Given the description of an element on the screen output the (x, y) to click on. 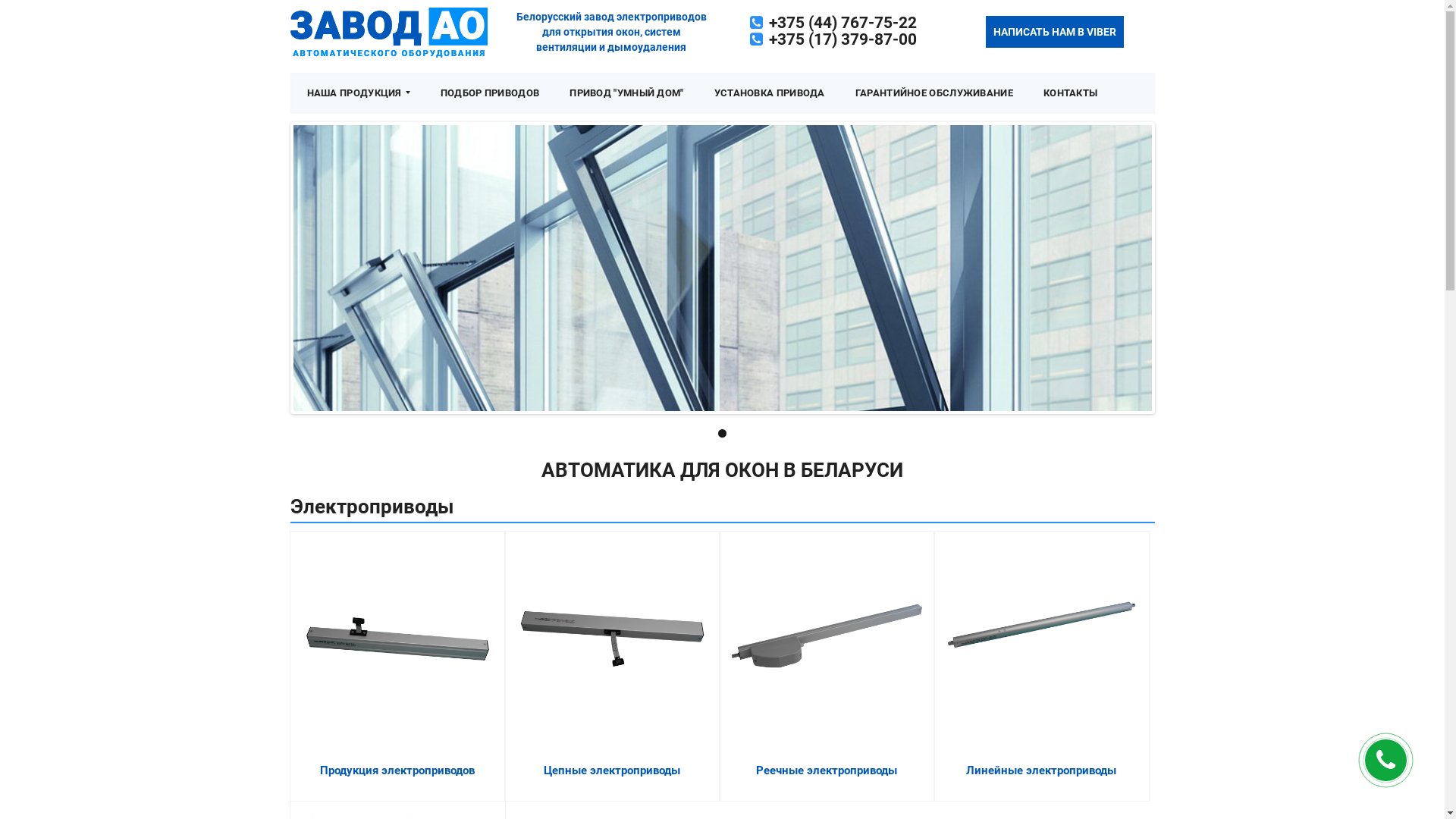
+375 (44) 767-75-22 Element type: text (842, 22)
+375 (17) 379-87-00 Element type: text (842, 39)
